Given the description of an element on the screen output the (x, y) to click on. 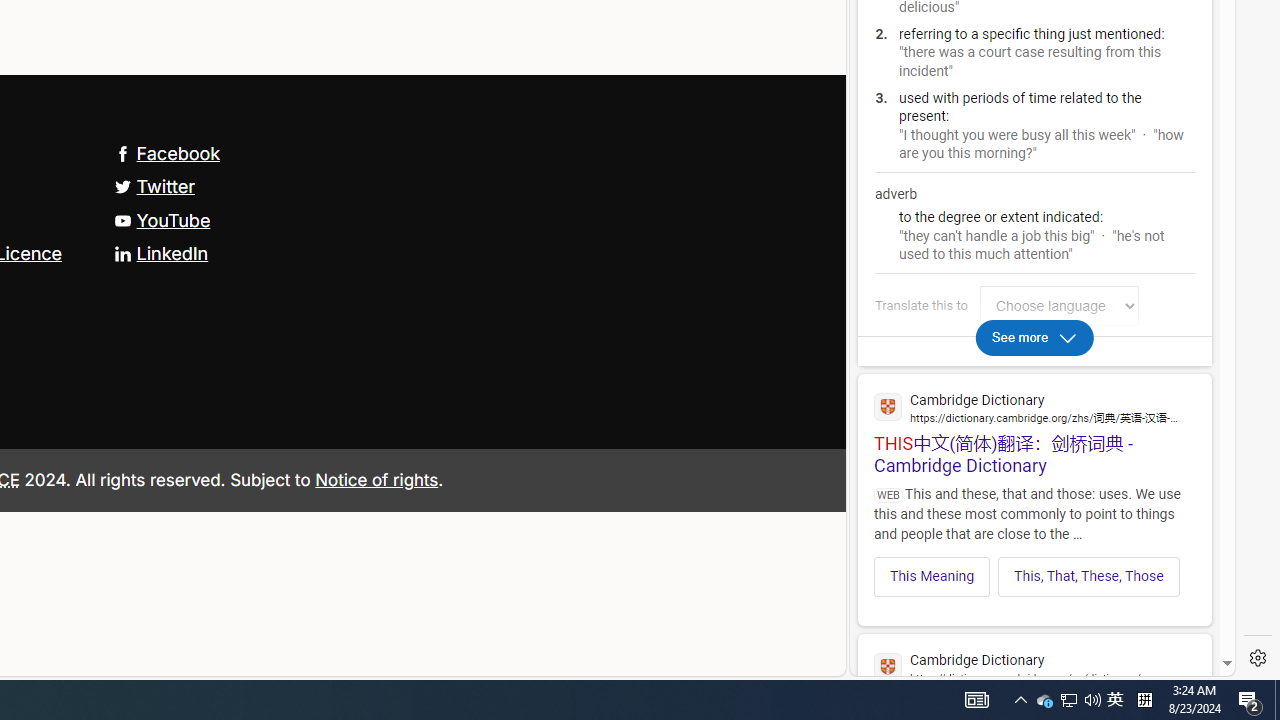
YouTube (162, 219)
Link for logging (1064, 305)
Cambridge Dictionary (1034, 666)
This, That, These, Those (1088, 575)
Translate this to Choose language (1059, 305)
Facebook (167, 152)
Notice of rights (376, 479)
This MeaningThis, That, These, Those (1034, 570)
